Given the description of an element on the screen output the (x, y) to click on. 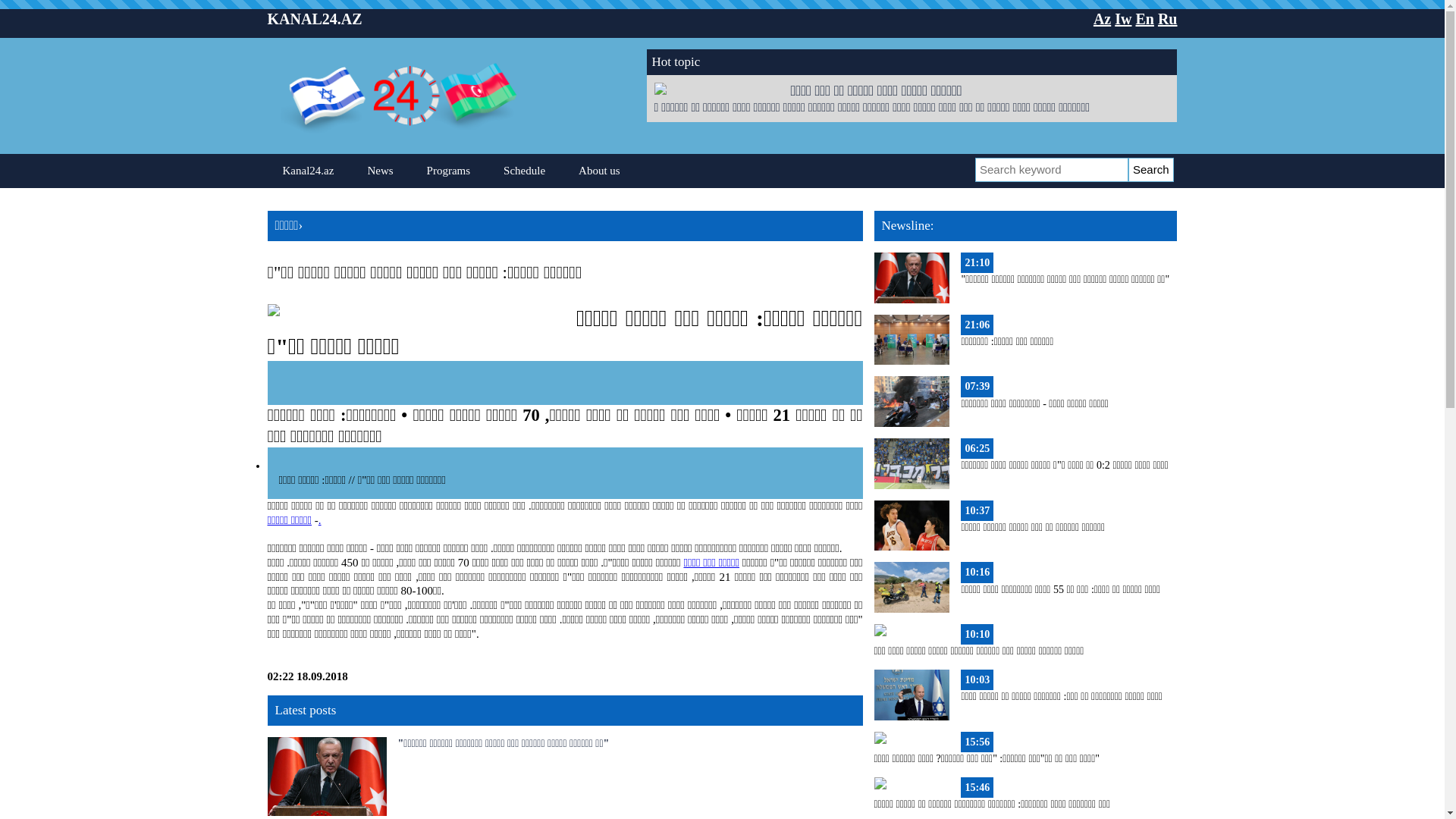
En Element type: text (1144, 18)
Search Element type: text (1150, 169)
Programs Element type: text (448, 170)
Az Element type: text (1101, 18)
About us Element type: text (599, 170)
Kanal24.az Element type: text (307, 170)
Ru Element type: text (1167, 18)
News Element type: text (379, 170)
Iw Element type: text (1122, 18)
Schedule Element type: text (524, 170)
